Given the description of an element on the screen output the (x, y) to click on. 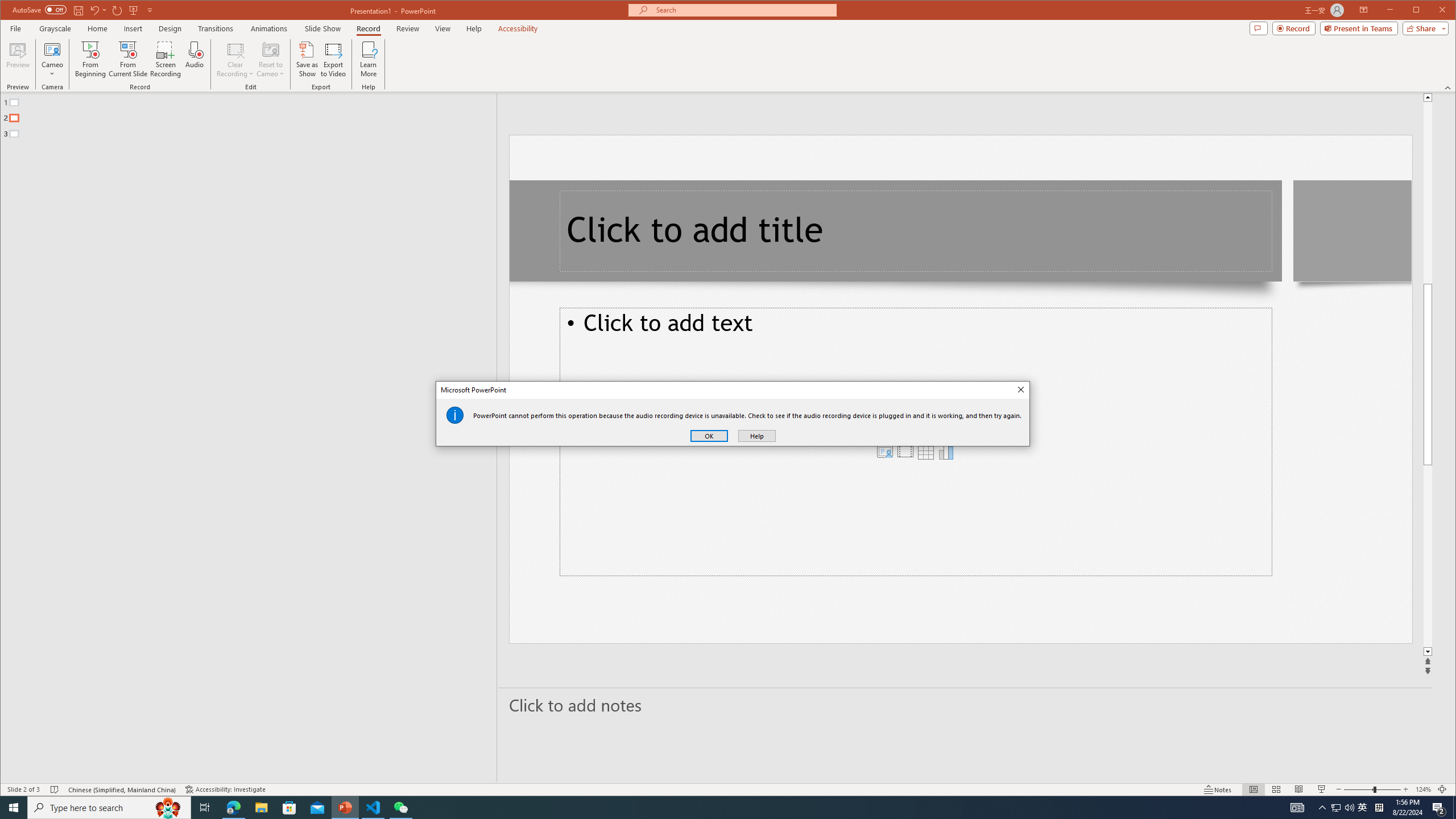
Class: Static (454, 415)
Zoom 124% (1422, 789)
